Given the description of an element on the screen output the (x, y) to click on. 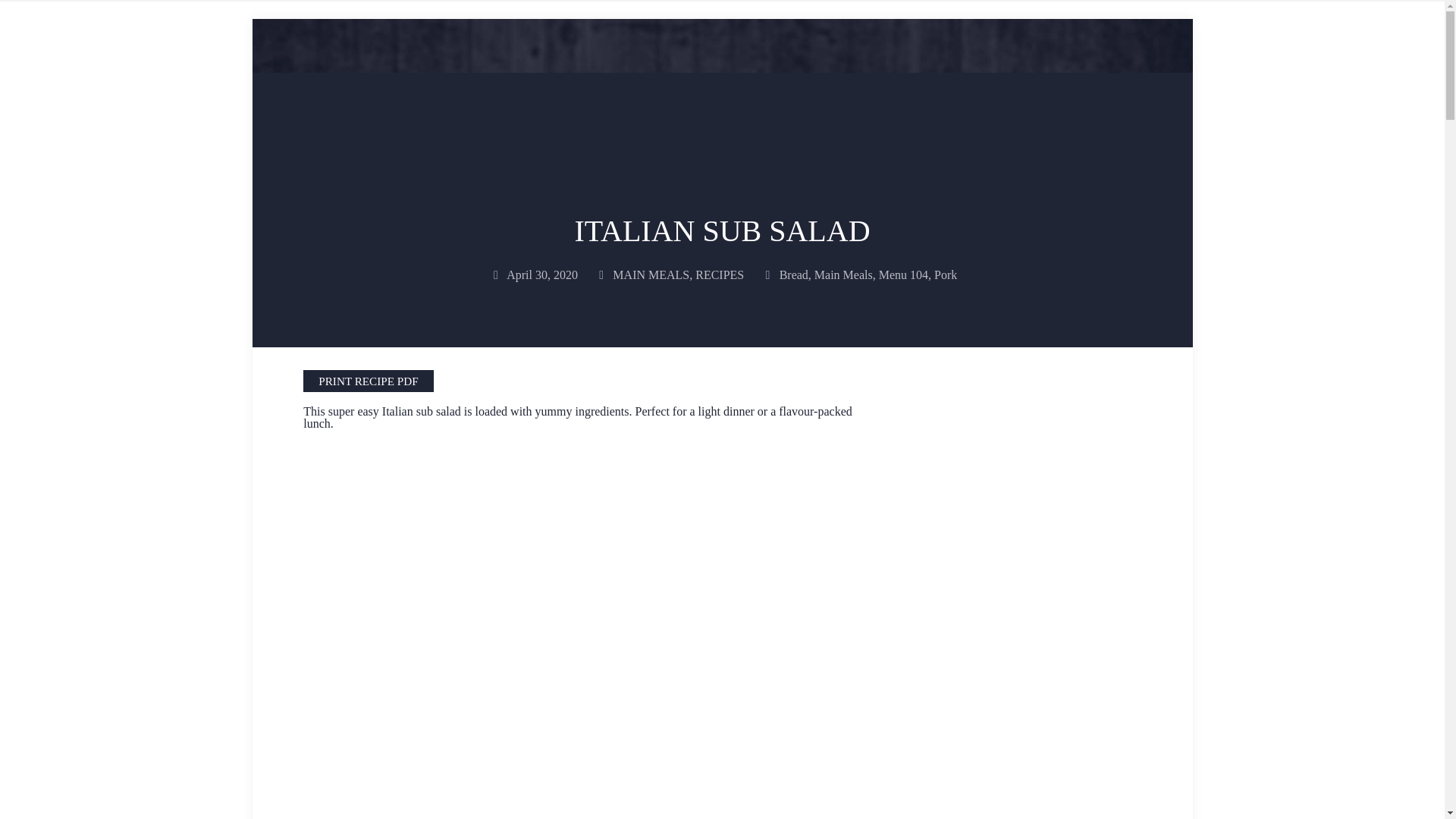
RECIPES (719, 274)
PRINT RECIPE PDF (367, 381)
MAIN MEALS (650, 274)
Pork (945, 274)
Main Meals (842, 274)
Bread (793, 274)
Menu 104 (903, 274)
